Given the description of an element on the screen output the (x, y) to click on. 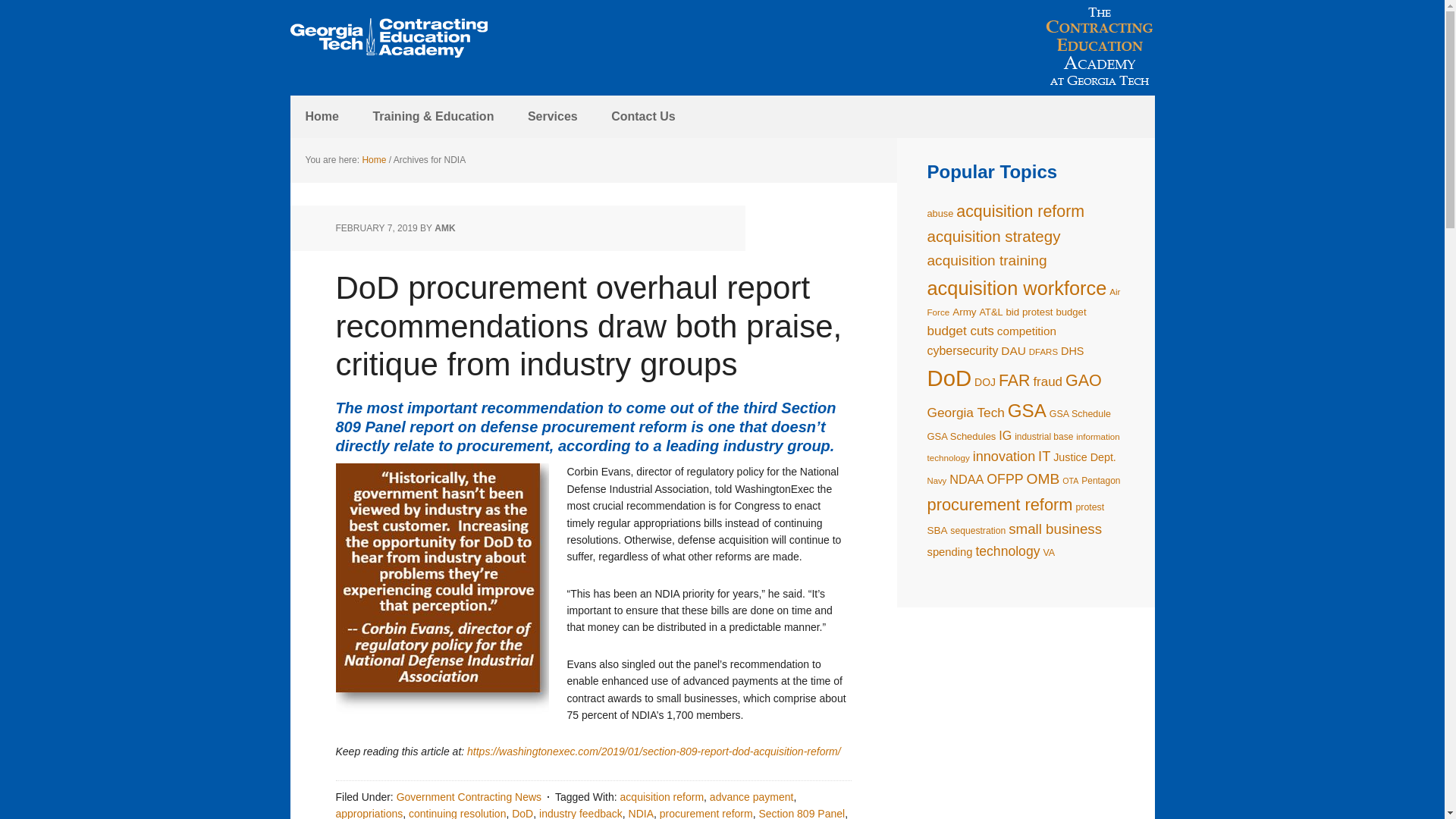
industry feedback (580, 813)
Services (552, 116)
continuing resolution (457, 813)
AMK (443, 227)
Home (373, 159)
The Contracting Education Academy (387, 38)
acquisition reform (662, 797)
procurement reform (705, 813)
appropriations (368, 813)
